Given the description of an element on the screen output the (x, y) to click on. 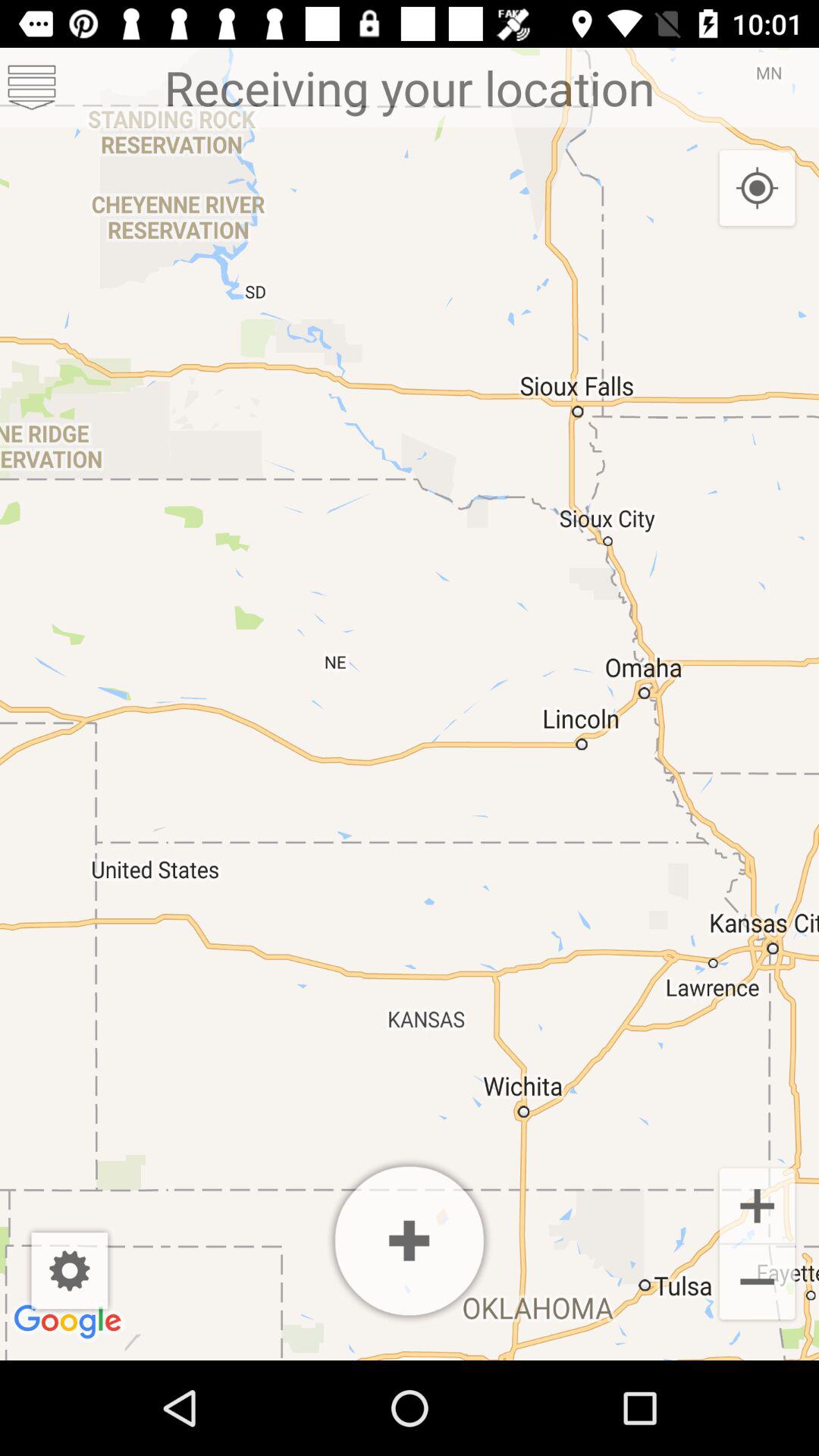
add observed violation (409, 1240)
